Given the description of an element on the screen output the (x, y) to click on. 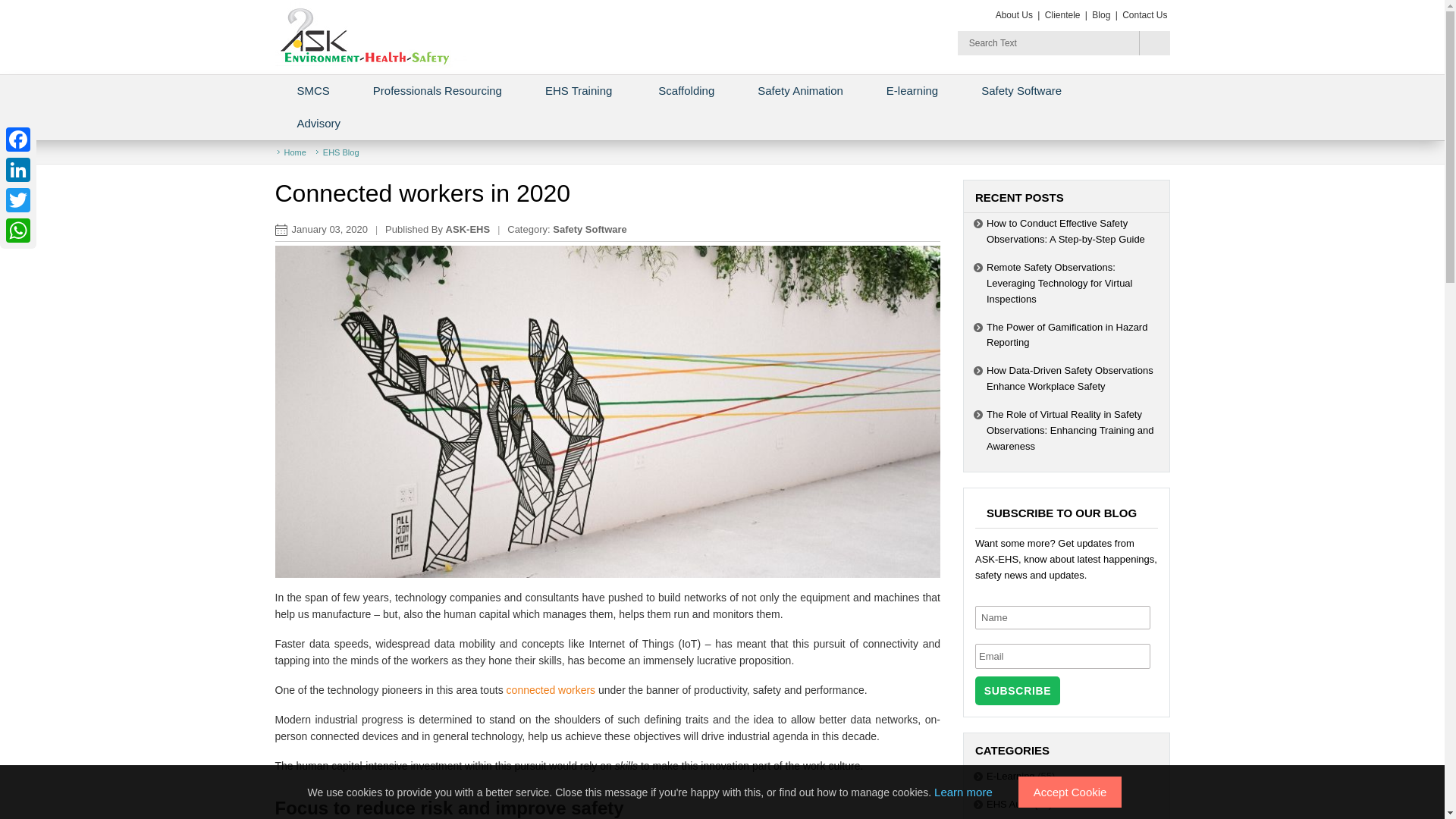
Safety Software (1021, 91)
EHS Blog (341, 152)
SMCS (312, 91)
Contact Us (1144, 14)
Advisory (320, 123)
Search Text (1044, 43)
Posts by ASK-EHS (467, 229)
Professionals Resourcing (436, 91)
Safety Software (590, 229)
connected workers (550, 689)
Safety Animation (799, 91)
Blog (1100, 14)
